Given the description of an element on the screen output the (x, y) to click on. 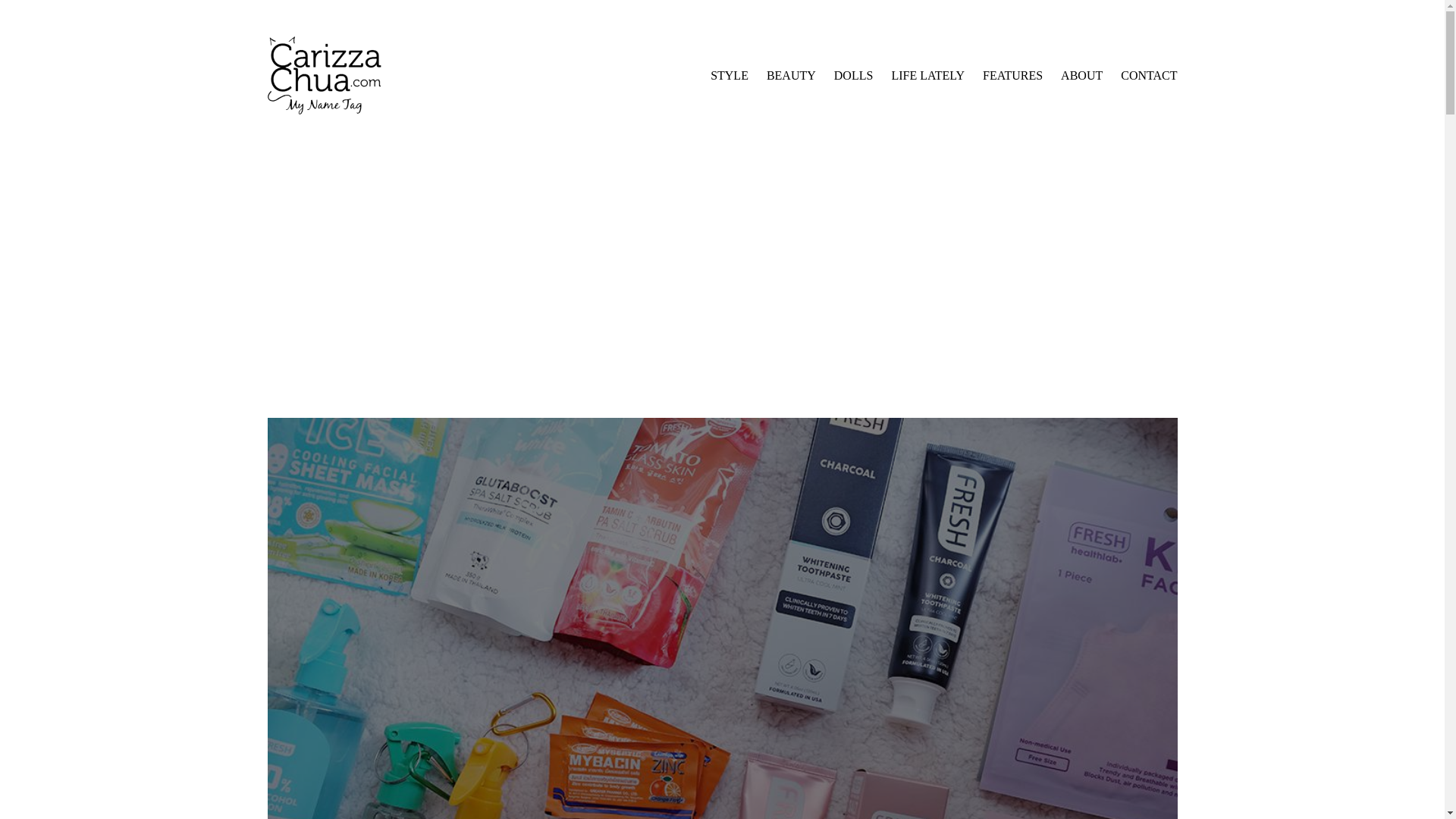
FEATURES (1012, 75)
DOLLS (853, 75)
LIFE LATELY (927, 75)
BEAUTY (791, 75)
CONTACT (1148, 75)
STYLE (729, 75)
ABOUT (1081, 75)
